Given the description of an element on the screen output the (x, y) to click on. 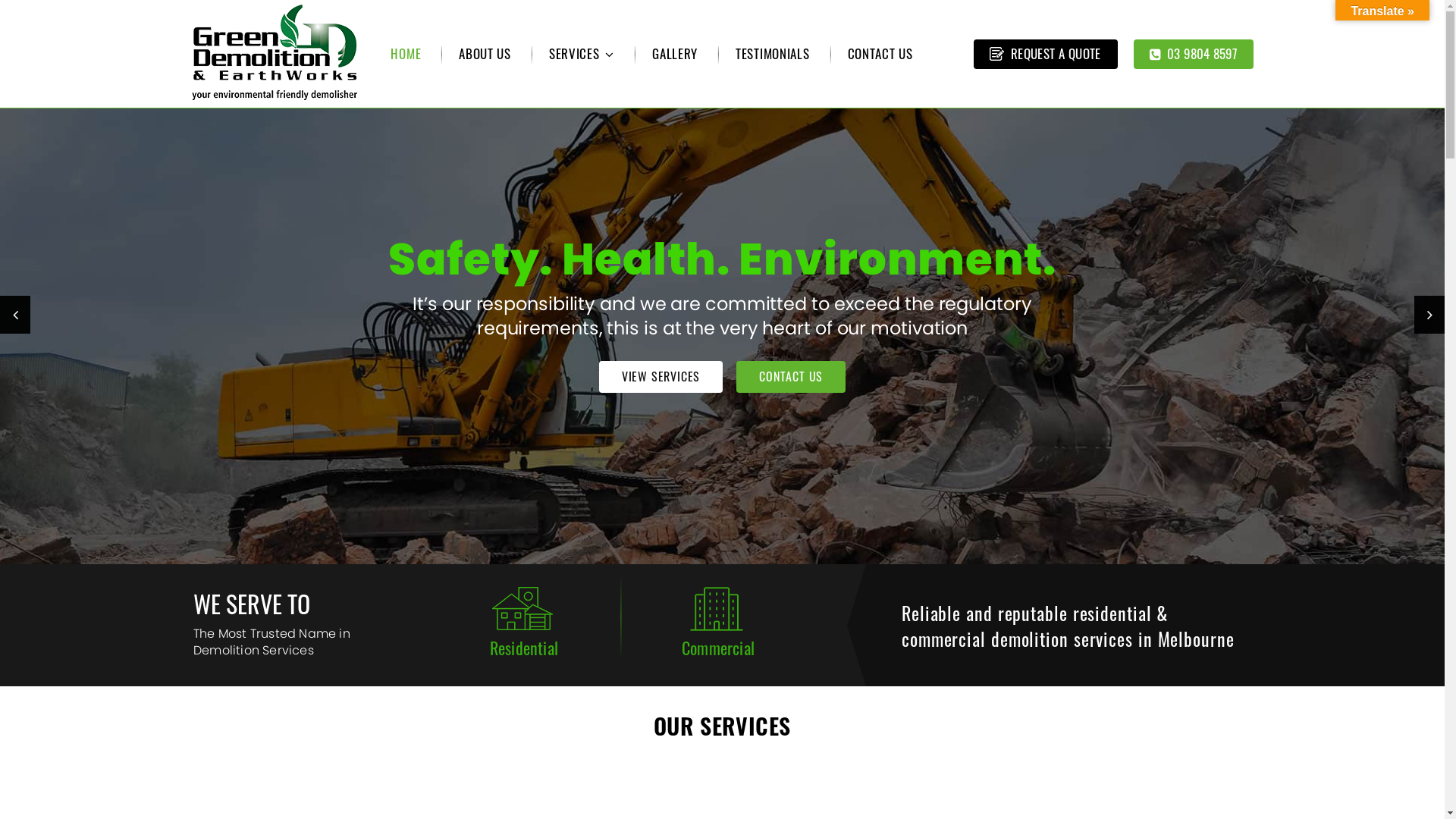
Previous Element type: text (15, 314)
Next Element type: text (1429, 314)
VIEW SERVICES Element type: text (660, 352)
REQUEST A QUOTE Element type: text (1045, 54)
03 9804 8597 Element type: text (1193, 54)
HOME Element type: text (405, 53)
TESTIMONIALS Element type: text (772, 53)
GALLERY Element type: text (674, 53)
SERVICES Element type: text (581, 53)
ABOUT US Element type: text (484, 53)
CONTACT US Element type: text (880, 53)
CONTACT US Element type: text (790, 352)
